Given the description of an element on the screen output the (x, y) to click on. 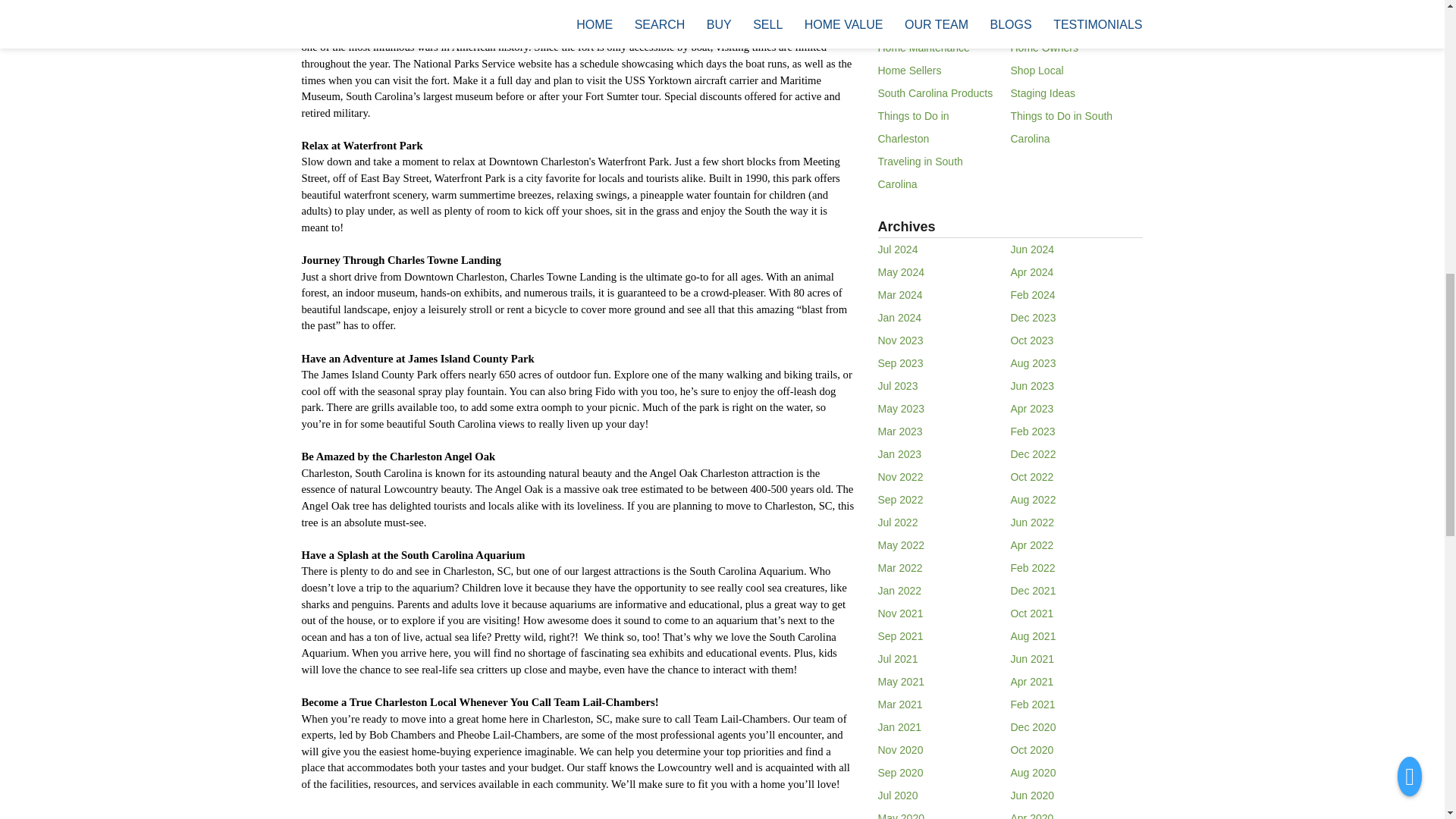
Charleston Services (924, 4)
Home Buyers (909, 24)
Christmas in Charleston (1066, 4)
Home Care Tips (1048, 24)
